Given the description of an element on the screen output the (x, y) to click on. 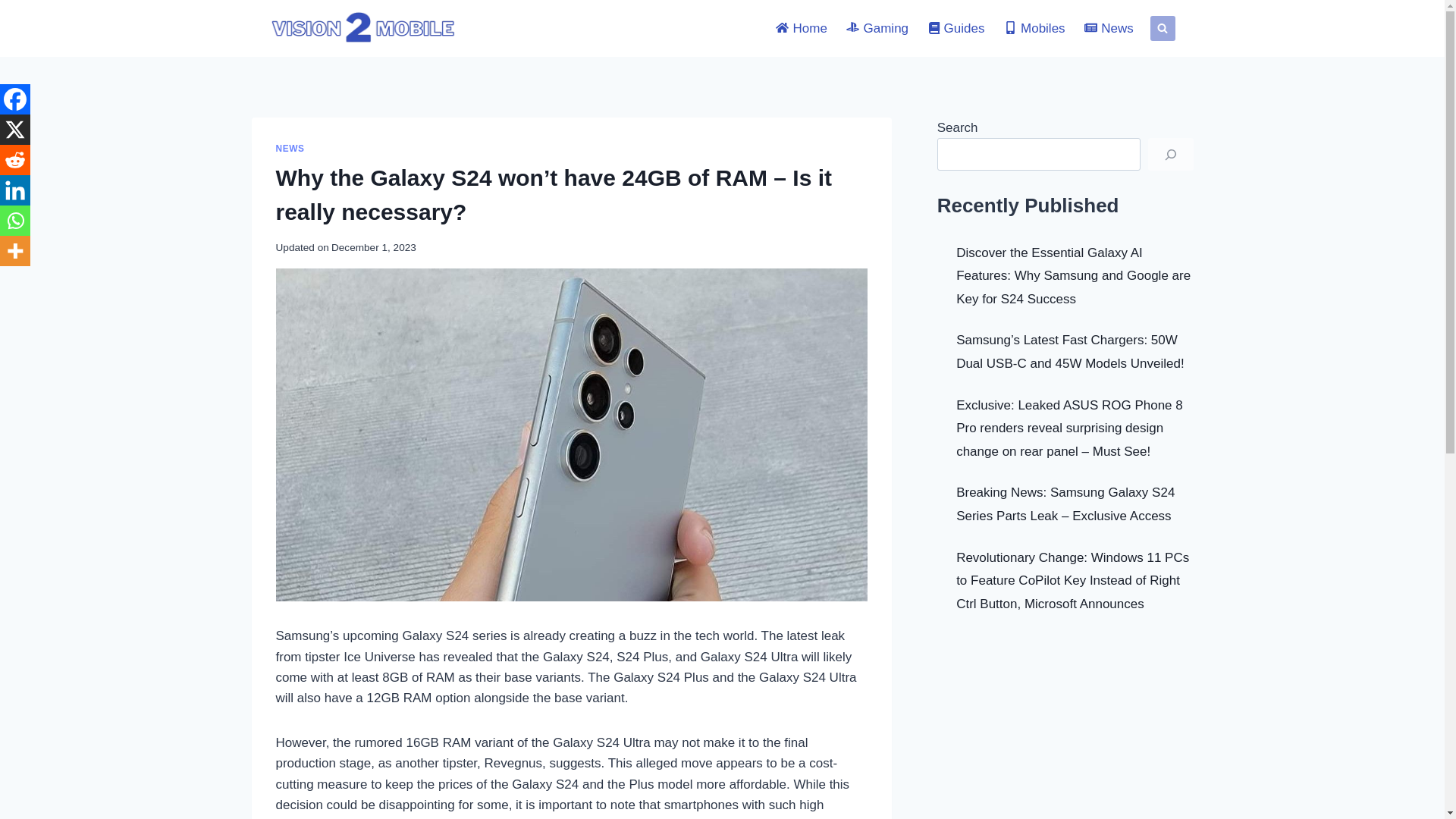
Mobiles (1034, 28)
Gaming (877, 28)
Linkedin (15, 190)
Home (802, 28)
News (1108, 28)
NEWS (290, 148)
Reddit (15, 159)
Whatsapp (15, 220)
Facebook (15, 99)
X (15, 129)
More (15, 250)
Guides (956, 28)
